Given the description of an element on the screen output the (x, y) to click on. 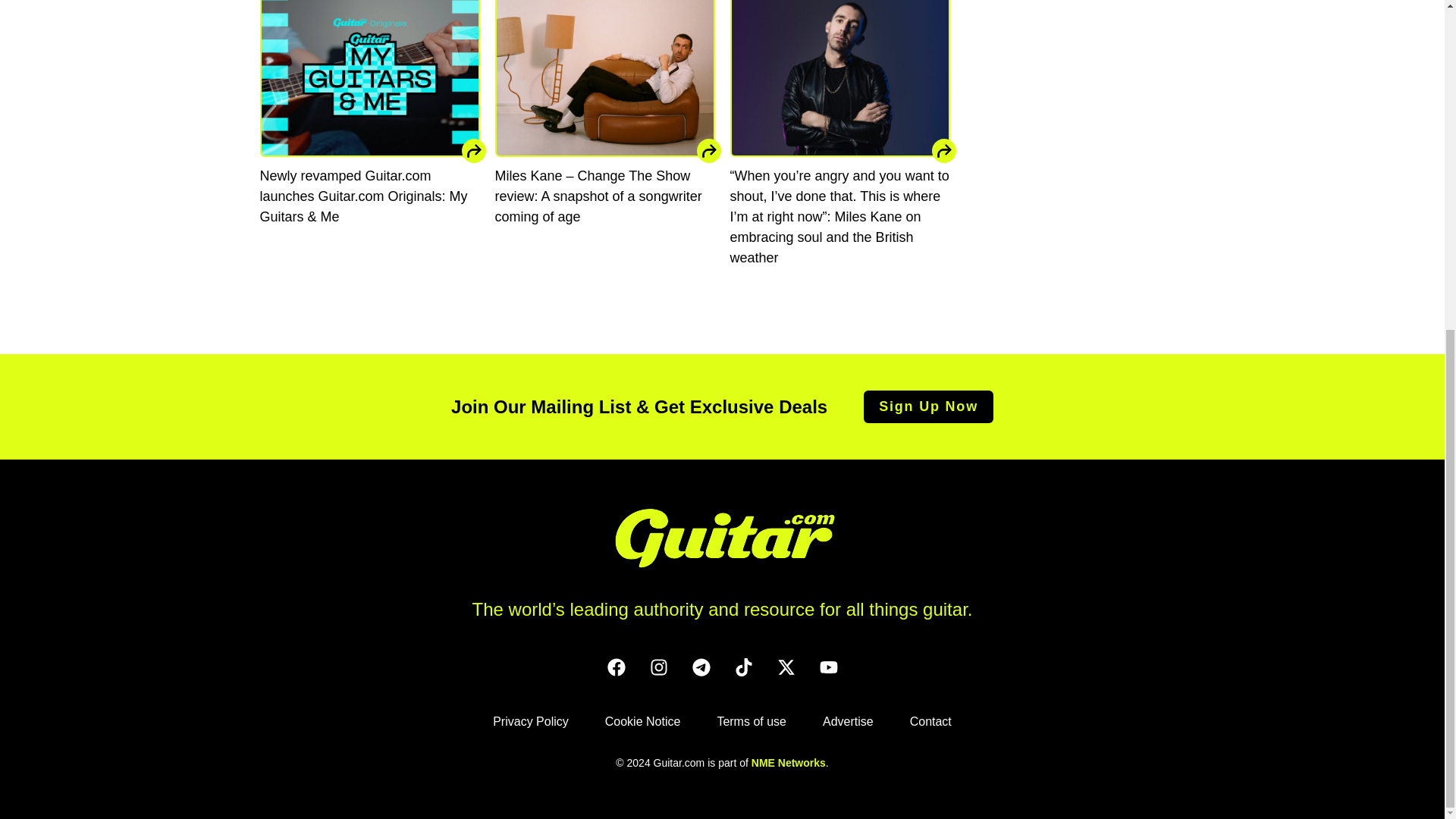
Sign Up Now (927, 406)
NME Networks (788, 762)
Published January 24, 2022 9:30AM (604, 244)
Published September 14, 2023 1:19PM (369, 244)
Privacy Policy (530, 721)
Cookie Notice (642, 721)
Contact (930, 721)
Terms of use (750, 721)
Advertise (847, 721)
Published January 21, 2022 9:30AM (839, 285)
